Given the description of an element on the screen output the (x, y) to click on. 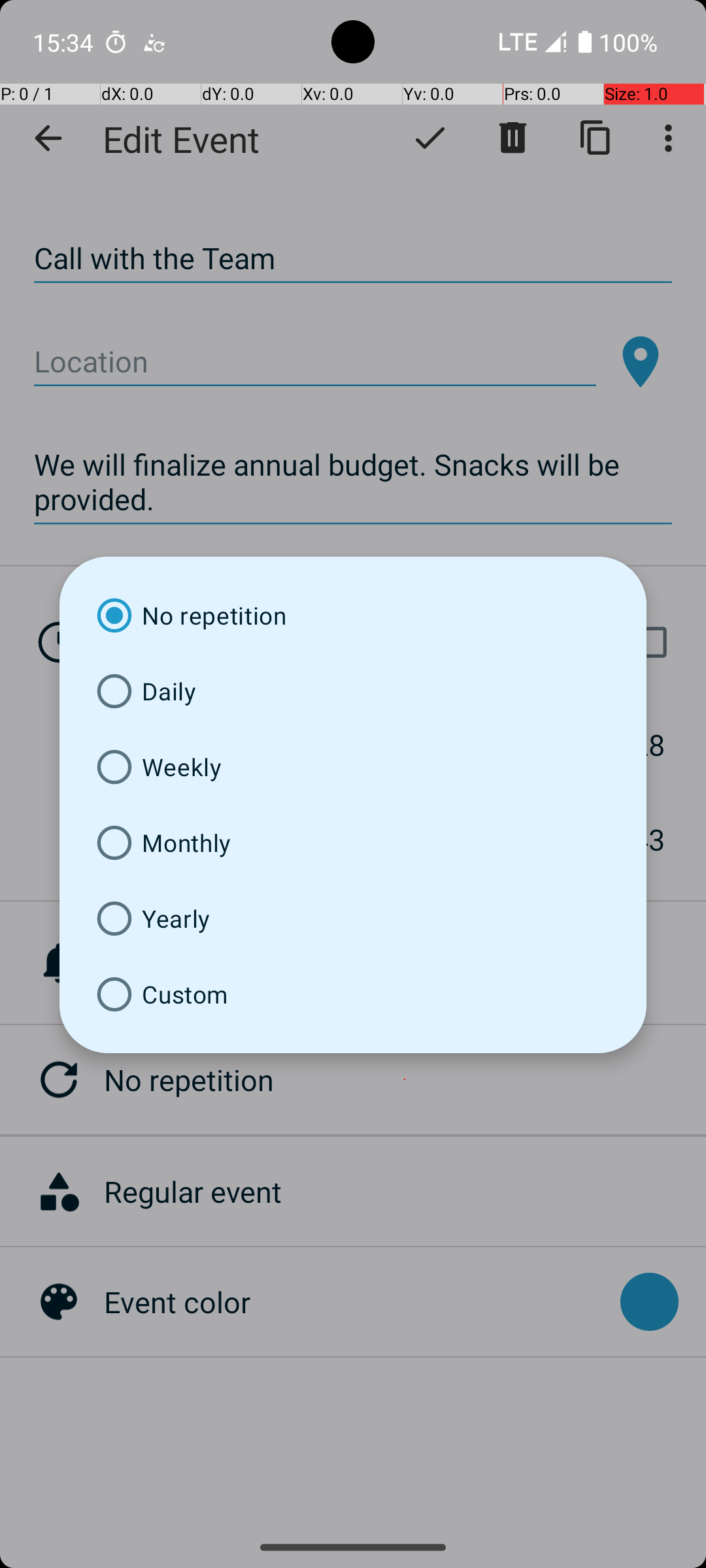
Weekly Element type: android.widget.RadioButton (352, 766)
Monthly Element type: android.widget.RadioButton (352, 842)
Yearly Element type: android.widget.RadioButton (352, 918)
